Given the description of an element on the screen output the (x, y) to click on. 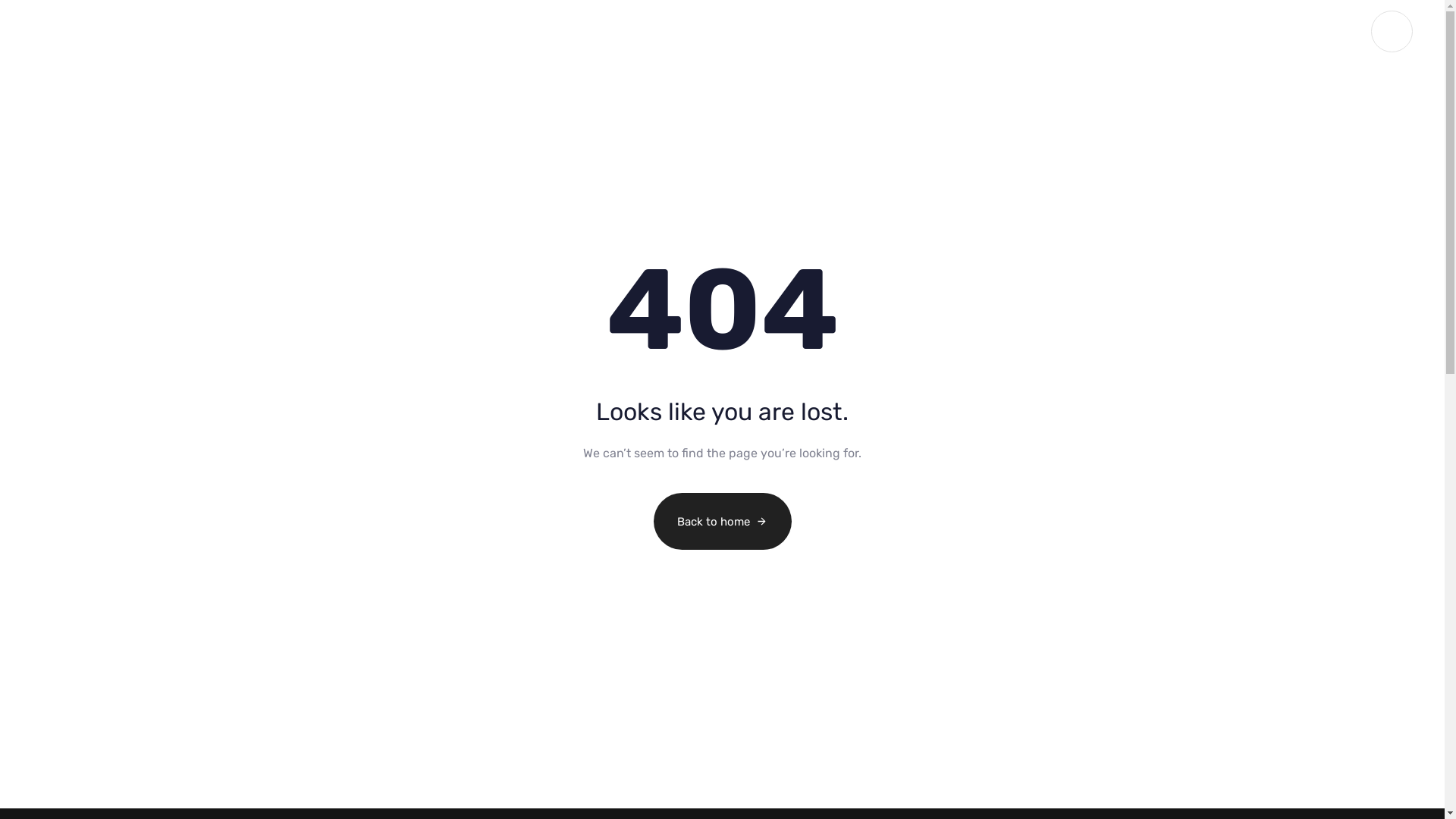
Back to home Element type: text (722, 520)
